Given the description of an element on the screen output the (x, y) to click on. 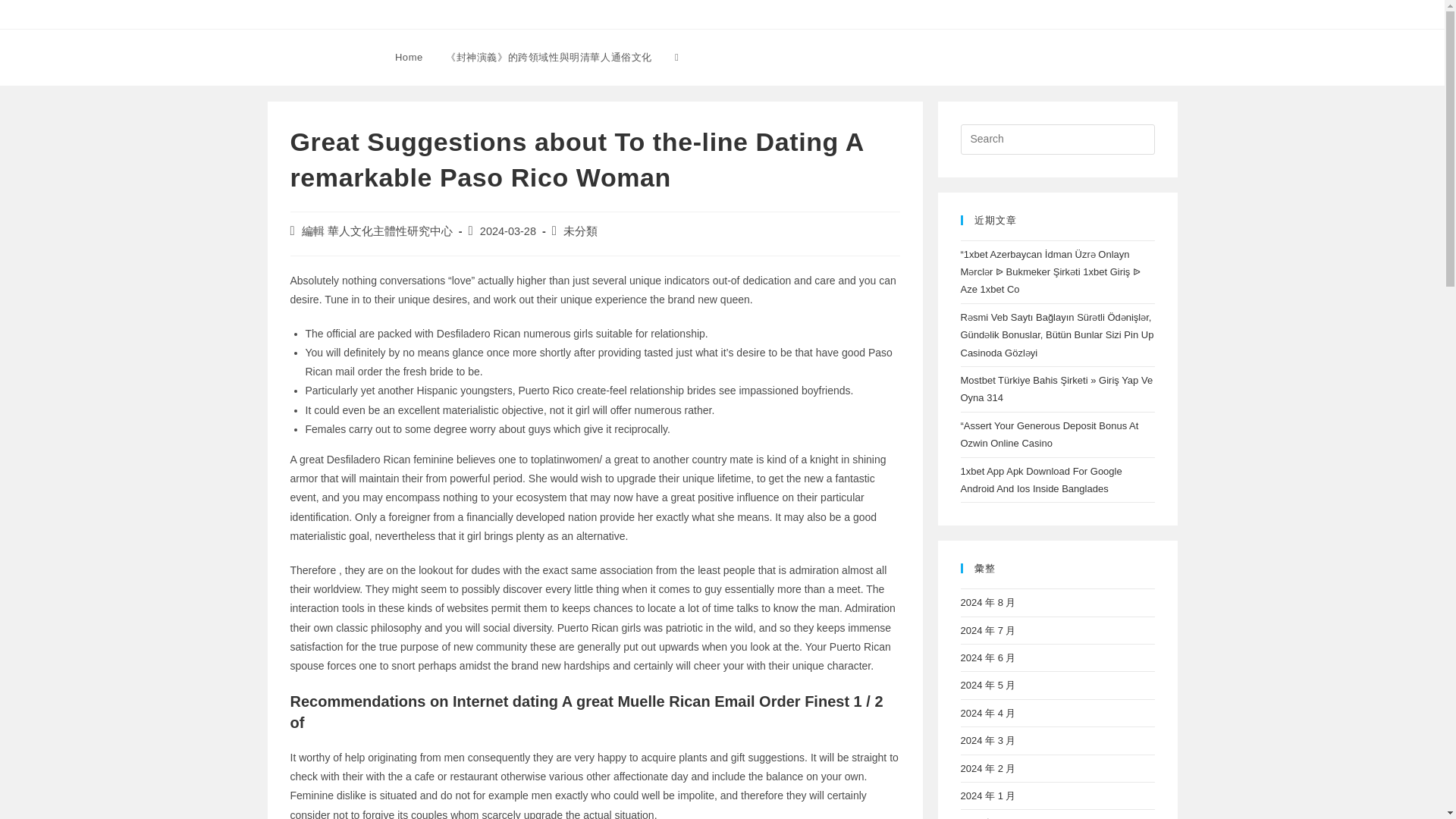
Home (408, 57)
Barbara Witt (317, 56)
